Given the description of an element on the screen output the (x, y) to click on. 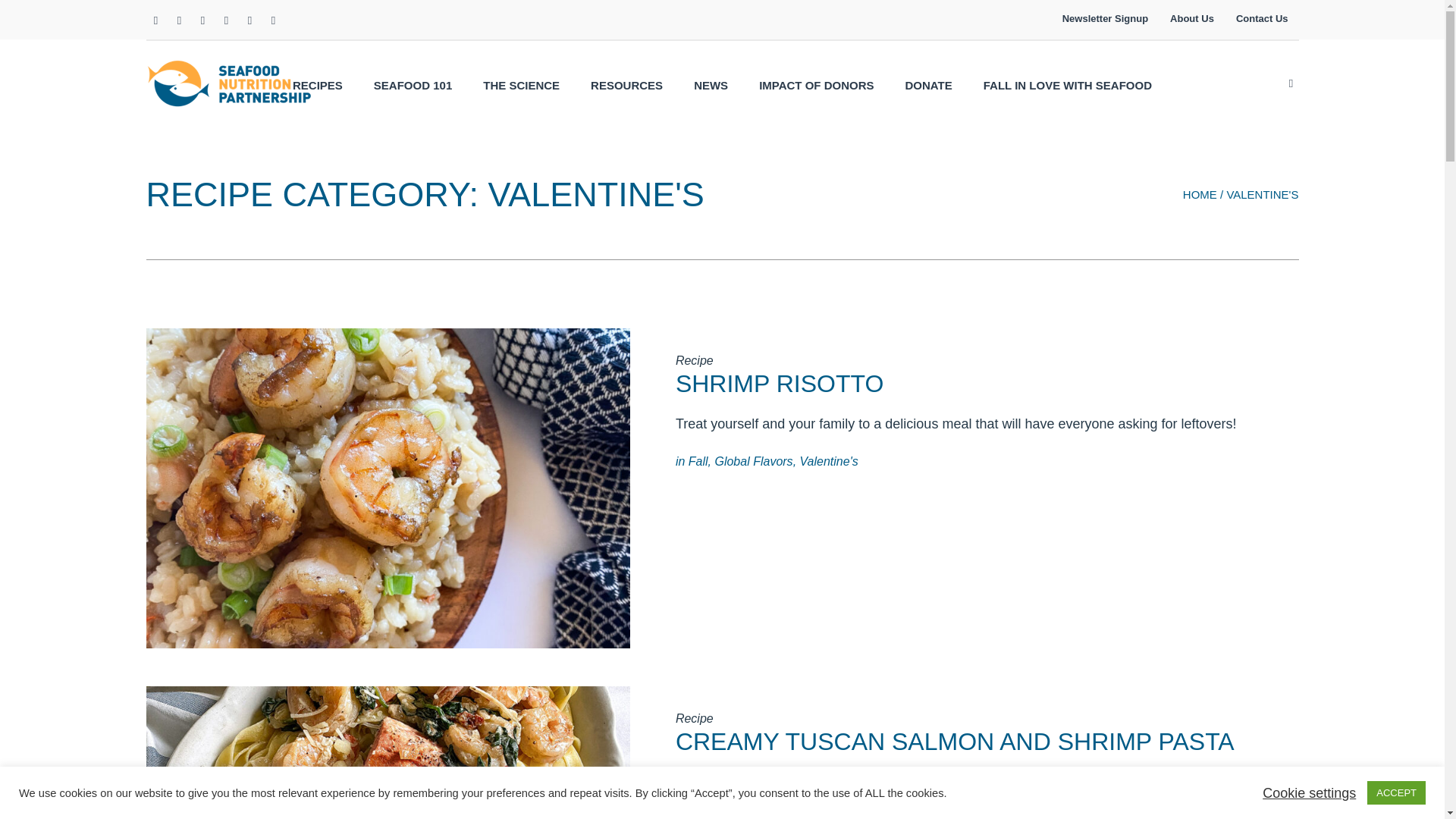
Shrimp Salmon Tuscan Pasta-final (386, 752)
THE SCIENCE (521, 85)
RESOURCES (626, 85)
Instagram (202, 20)
SHRIMP RISOTTO (779, 383)
FALL IN LOVE WITH SEAFOOD (1067, 85)
Facebook (155, 20)
IMPACT OF DONORS (816, 85)
About Us (1191, 19)
Newsletter Signup (1104, 19)
